Given the description of an element on the screen output the (x, y) to click on. 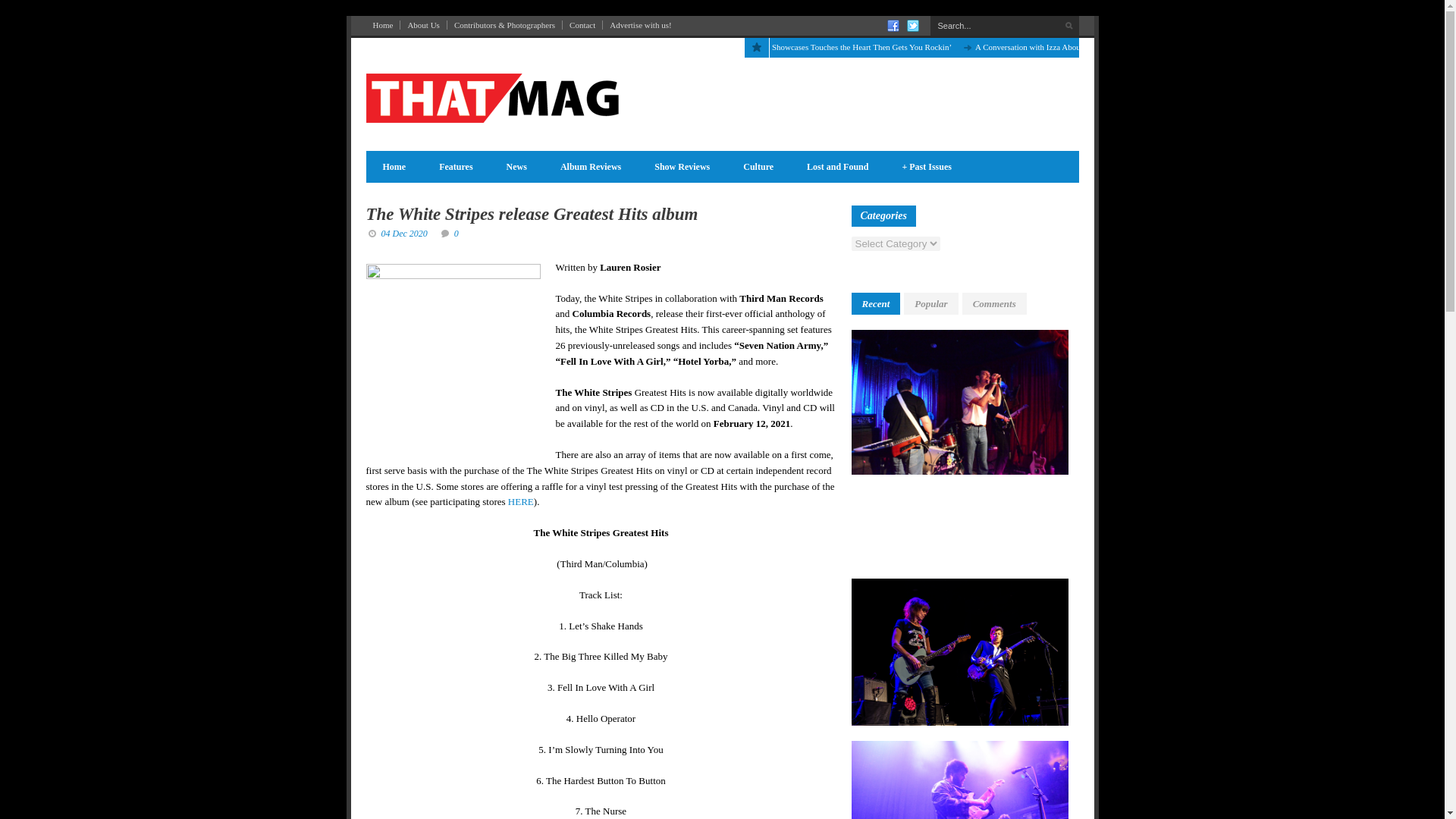
04 Dec 2020 (403, 233)
Show Reviews (681, 167)
Lost and Found (837, 167)
Culture (758, 167)
The White Stripes release Greatest Hits album (531, 213)
Features (455, 167)
Album Reviews (590, 167)
Home (382, 24)
HERE (521, 501)
Advertise with us! (640, 24)
